Given the description of an element on the screen output the (x, y) to click on. 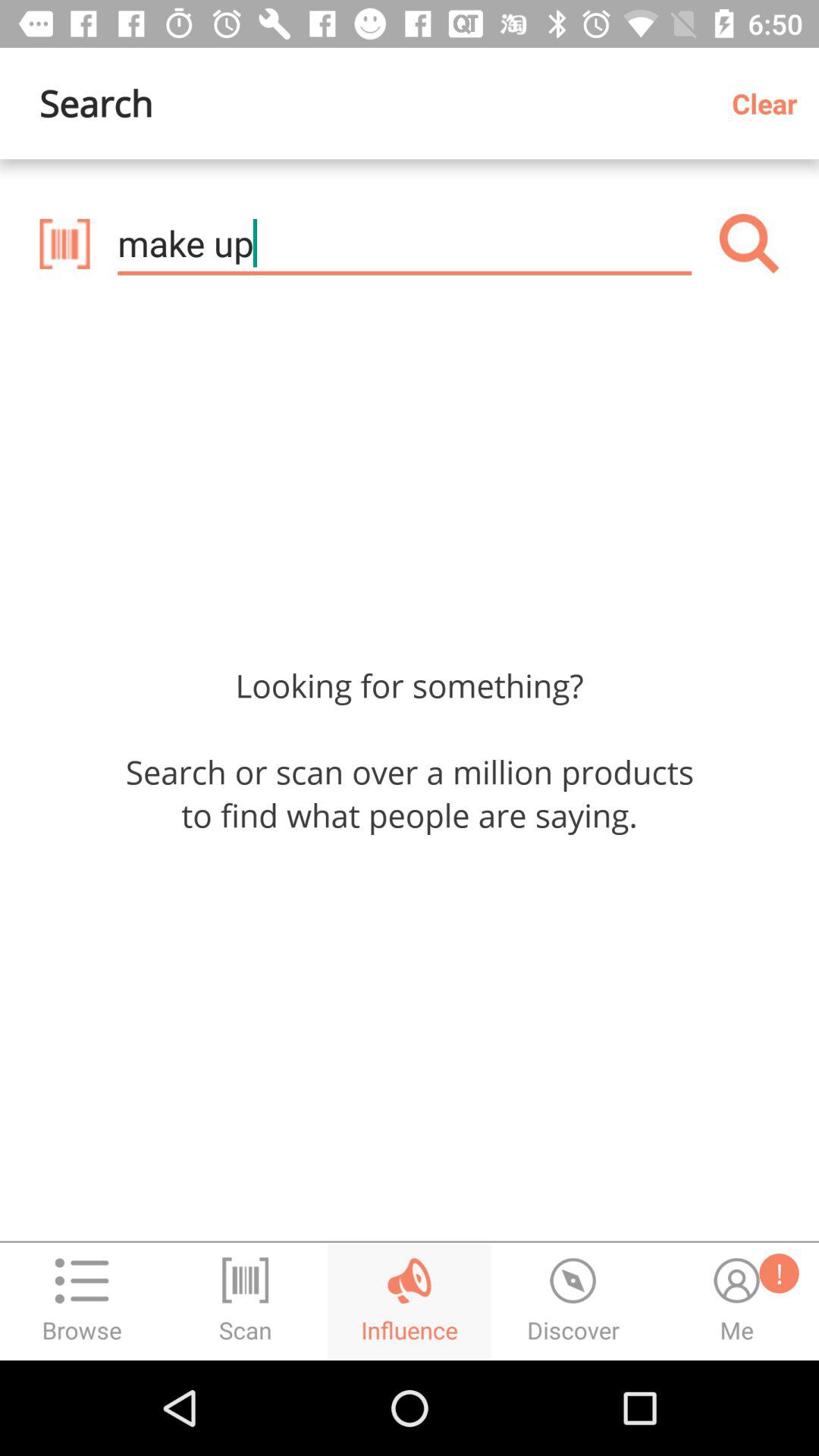
search button (749, 243)
